Given the description of an element on the screen output the (x, y) to click on. 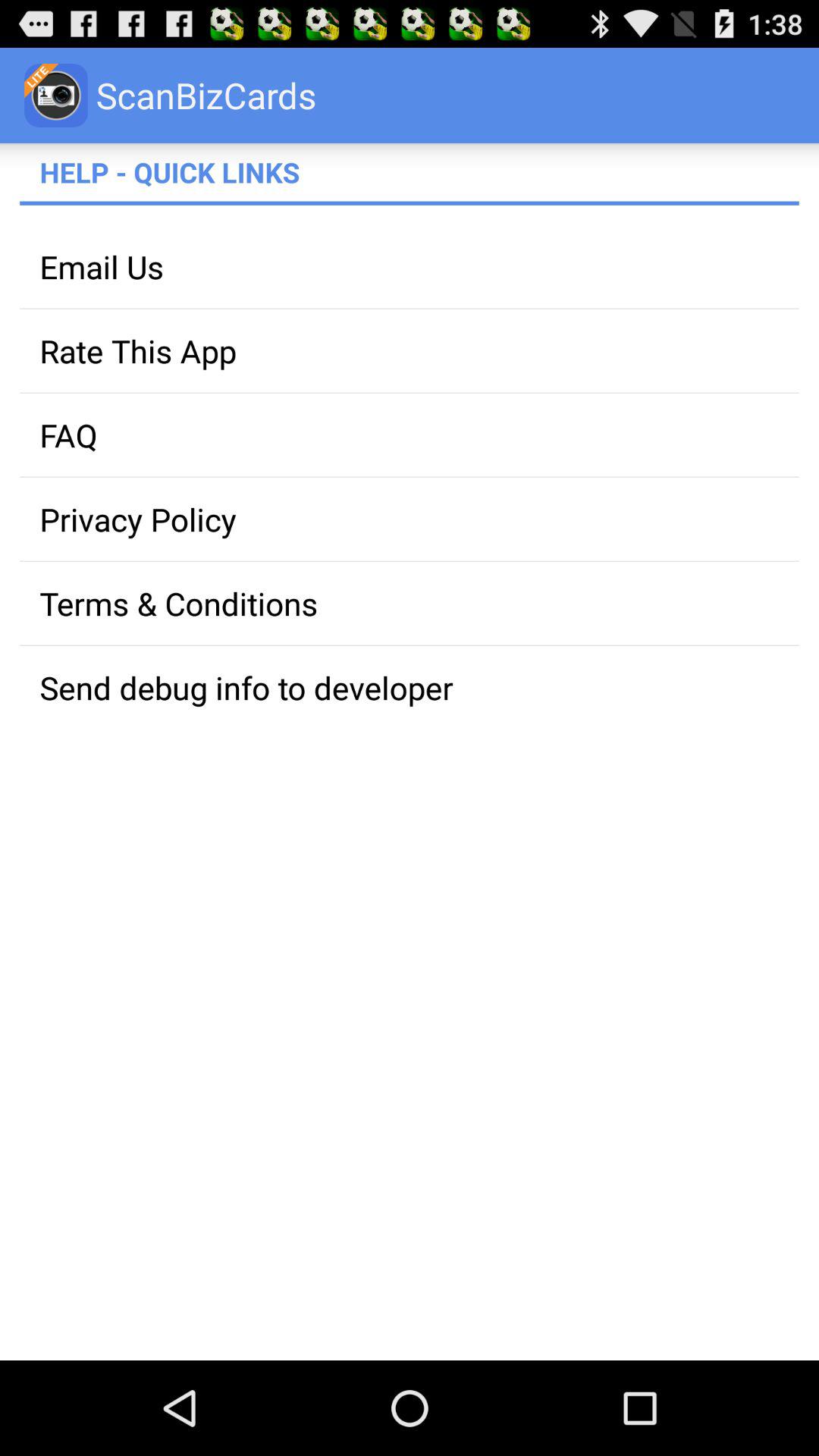
click item above privacy policy icon (409, 434)
